Given the description of an element on the screen output the (x, y) to click on. 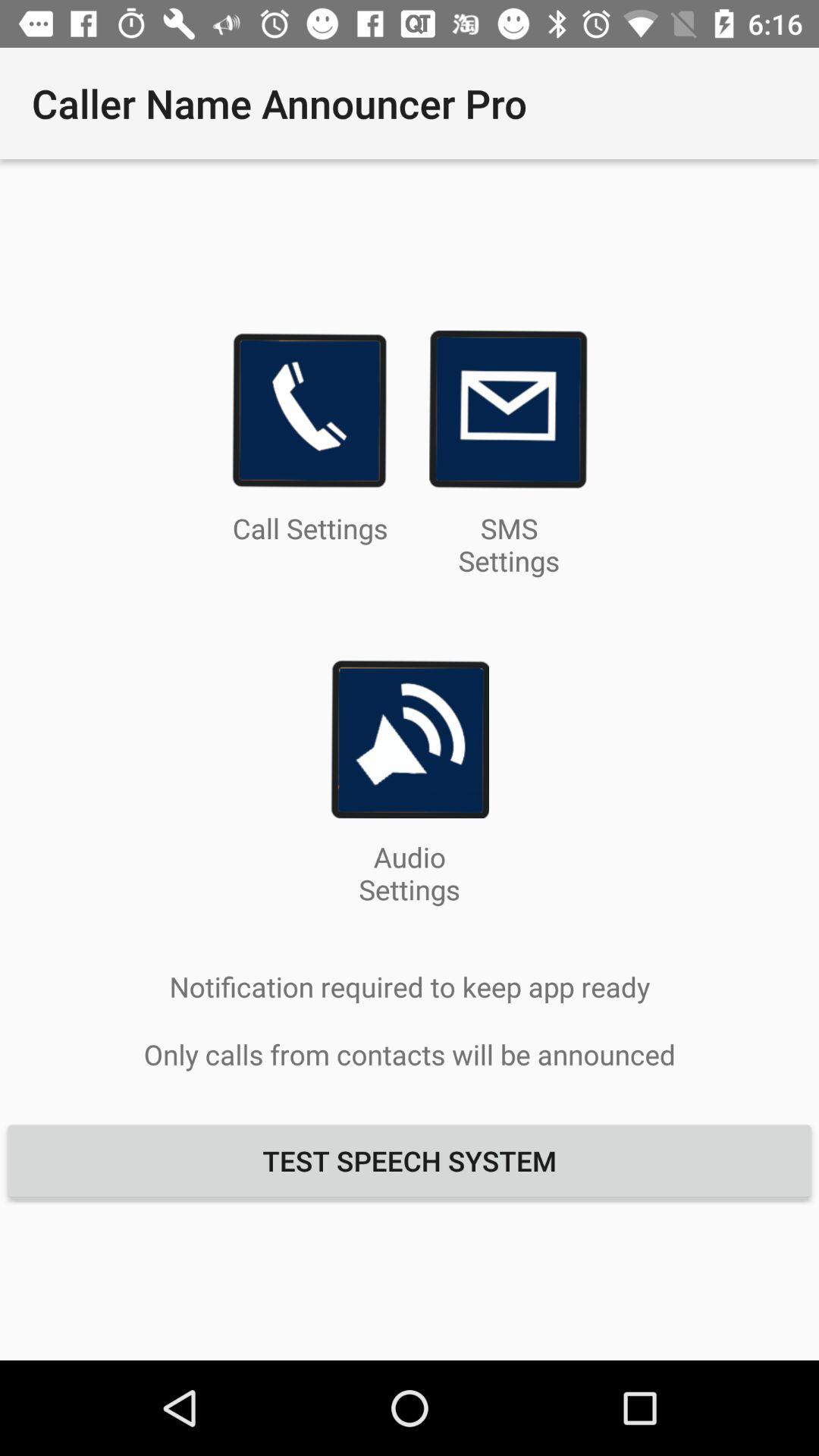
select the icon below only calls from icon (409, 1160)
